Given the description of an element on the screen output the (x, y) to click on. 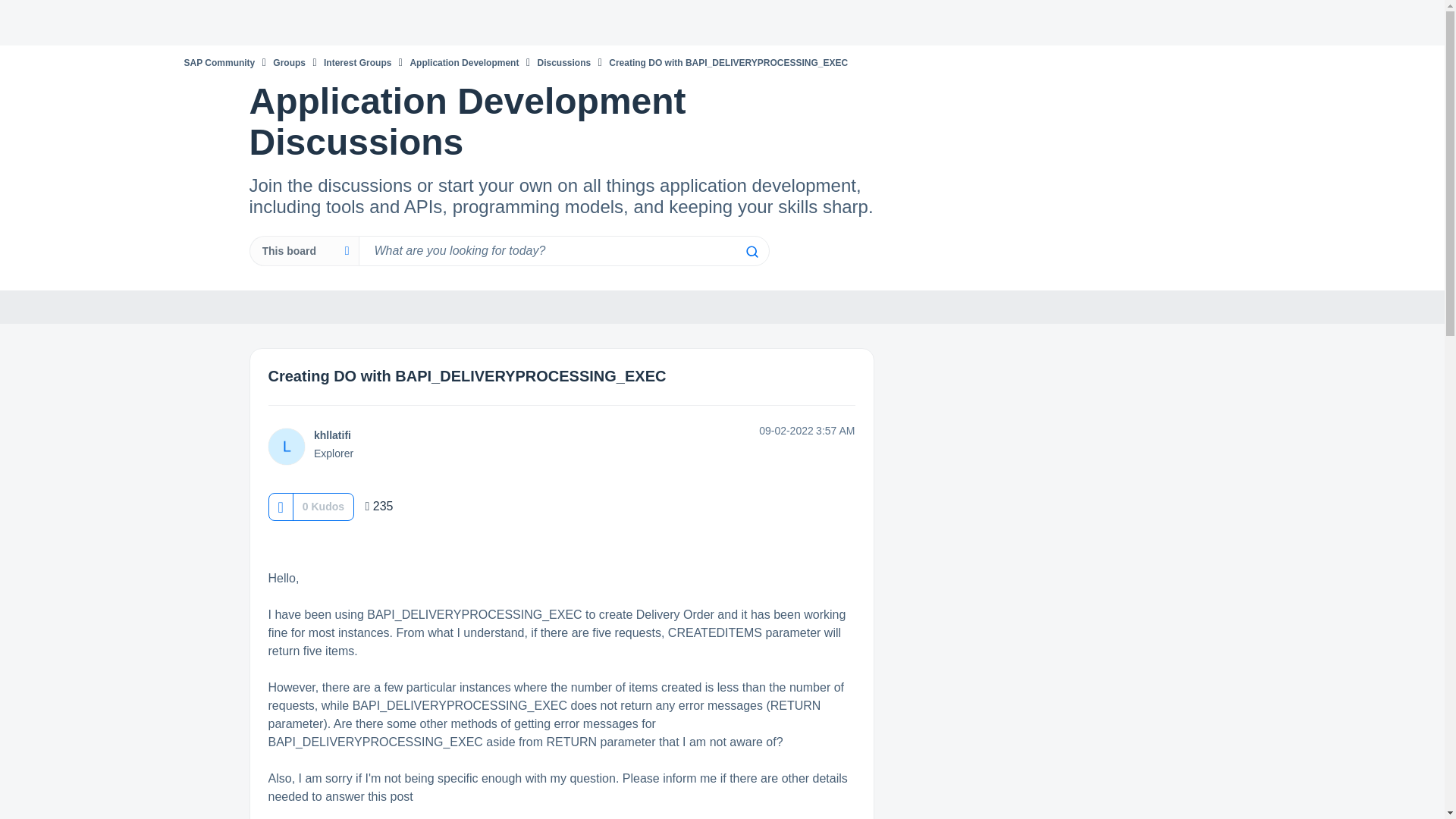
Interest Groups (357, 62)
Application Development (463, 62)
Groups (289, 62)
Options (1165, 307)
Discussions (564, 62)
Click here to give kudos to this post. (279, 507)
Search (750, 251)
khllatifi (285, 447)
Show option menu (1165, 307)
Search (750, 251)
